Given the description of an element on the screen output the (x, y) to click on. 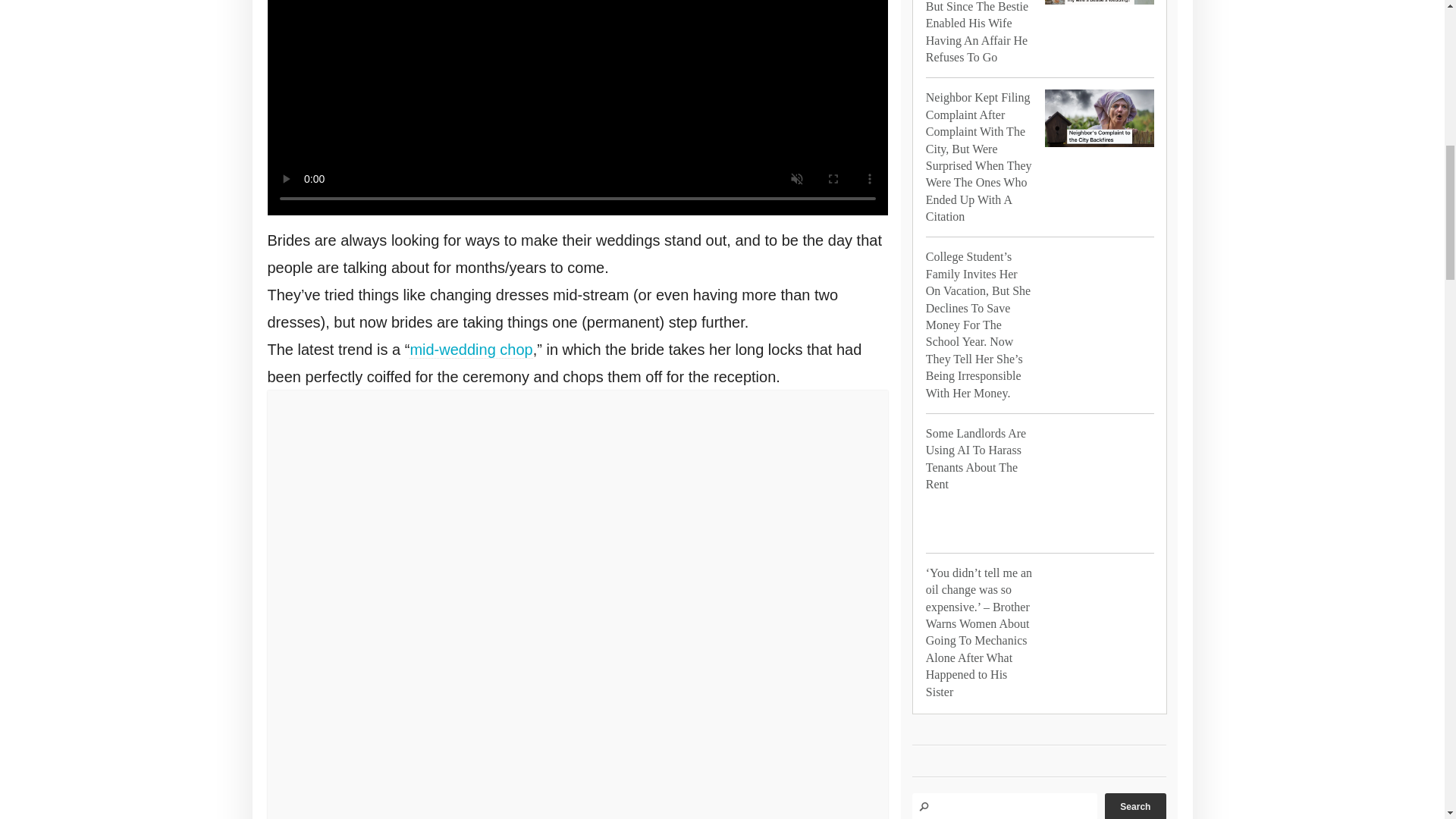
Search (1135, 806)
mid-wedding chop (470, 349)
